Given the description of an element on the screen output the (x, y) to click on. 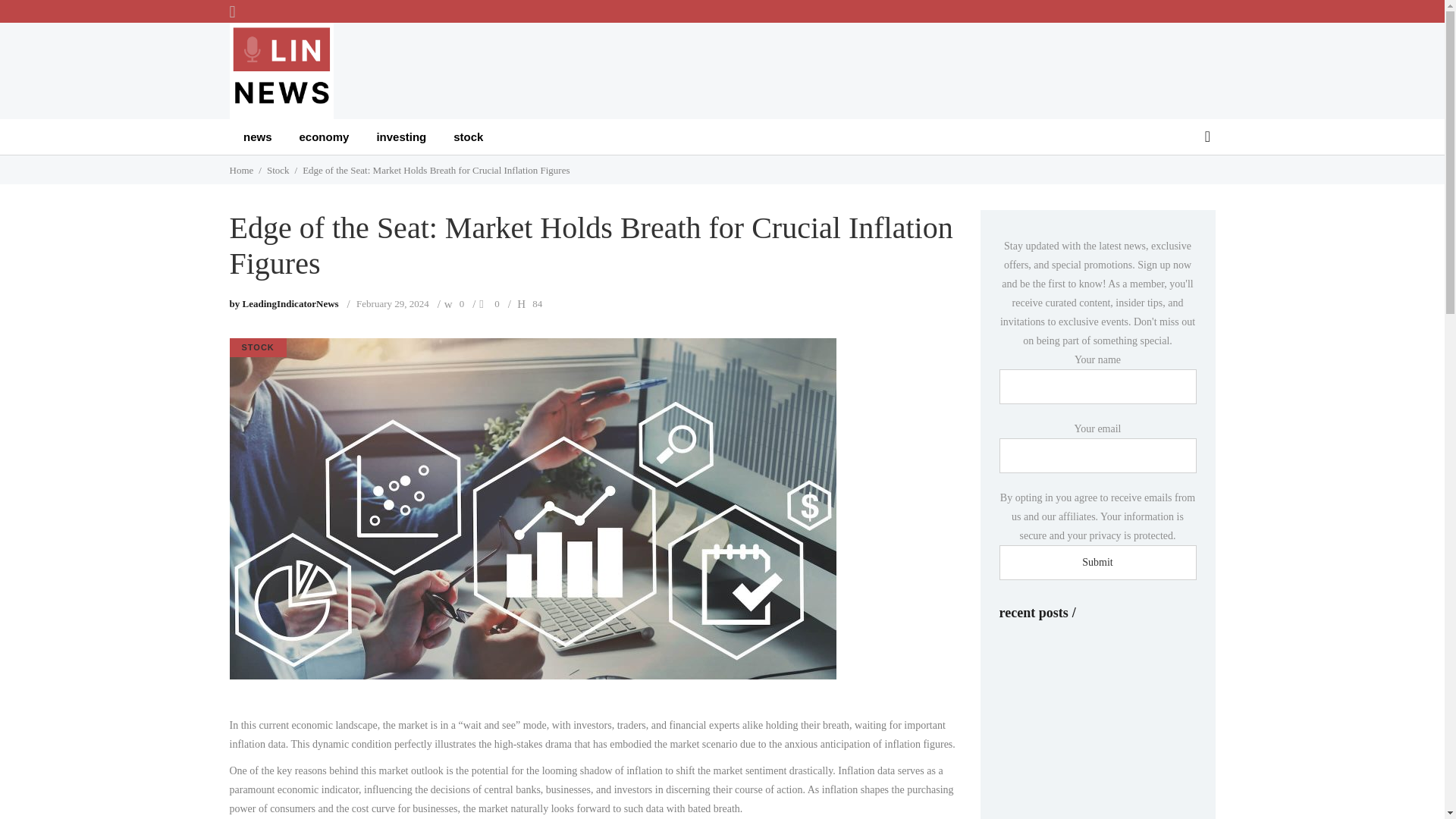
Search (1206, 136)
0 (497, 303)
investing (400, 136)
by LeadingIndicatorNews (282, 303)
STOCK (256, 347)
Stock (277, 169)
Home (240, 169)
economy (323, 136)
Like this (497, 303)
news (257, 136)
Submit (1097, 562)
0 (462, 303)
February 29, 2024 (392, 303)
stock (467, 136)
